Given the description of an element on the screen output the (x, y) to click on. 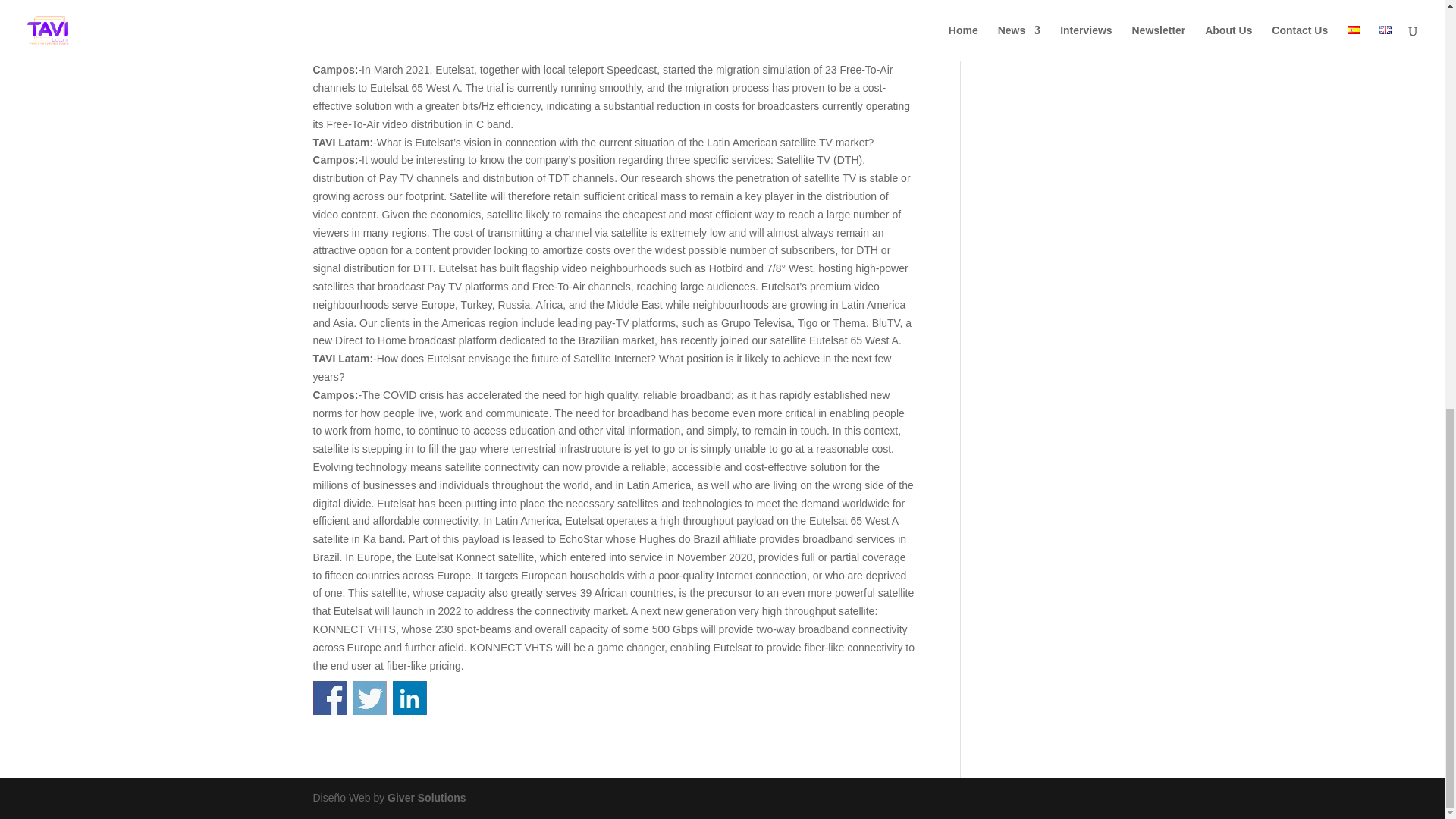
Share on Linkedin (409, 697)
Share on Facebook (329, 697)
Share on Twitter (369, 697)
